Given the description of an element on the screen output the (x, y) to click on. 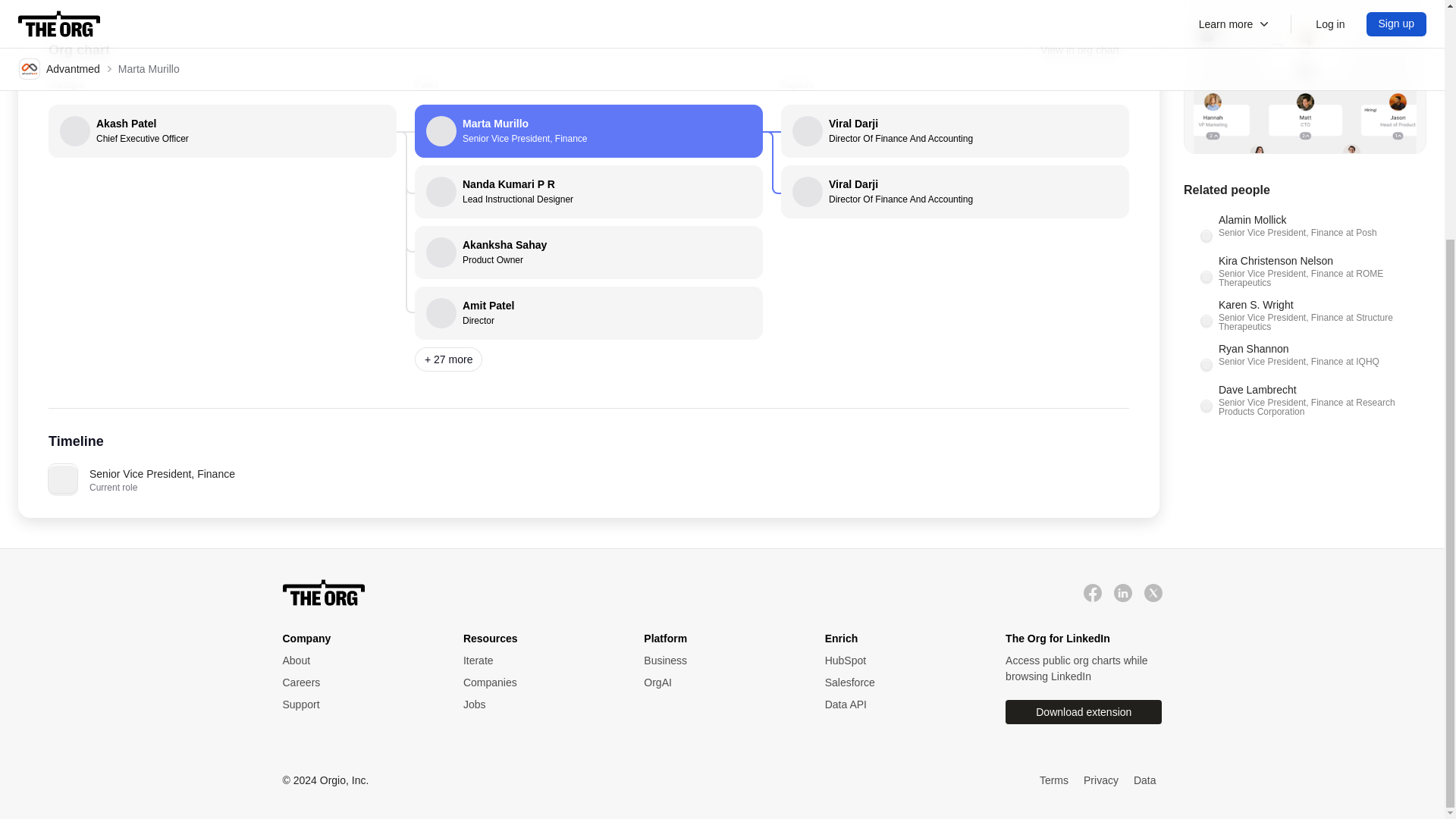
Support (357, 704)
Business (718, 660)
View in org chart (588, 312)
Support (1079, 49)
About (357, 704)
Jobs (357, 660)
Companies (537, 704)
